Given the description of an element on the screen output the (x, y) to click on. 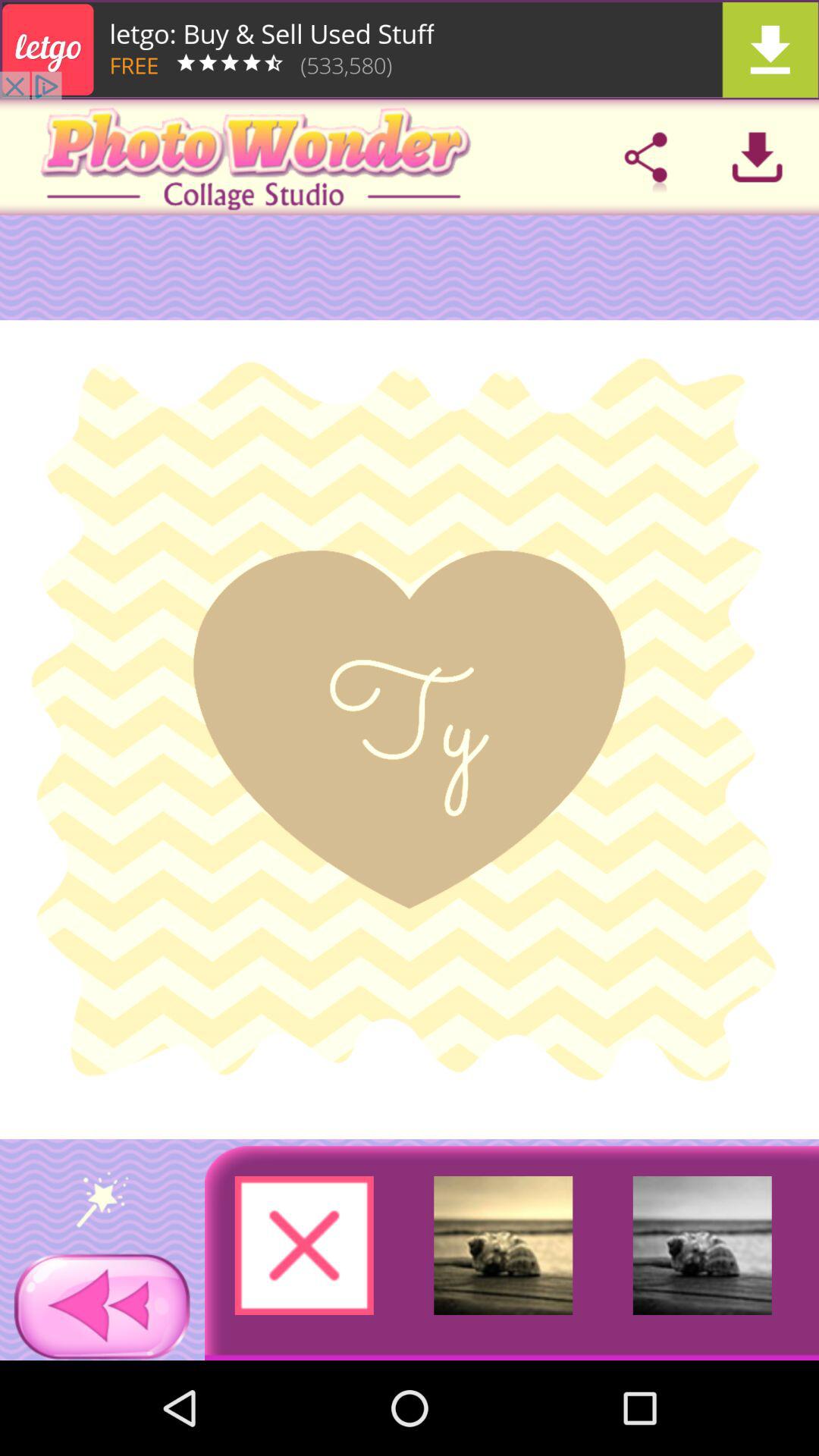
download image (757, 157)
